Given the description of an element on the screen output the (x, y) to click on. 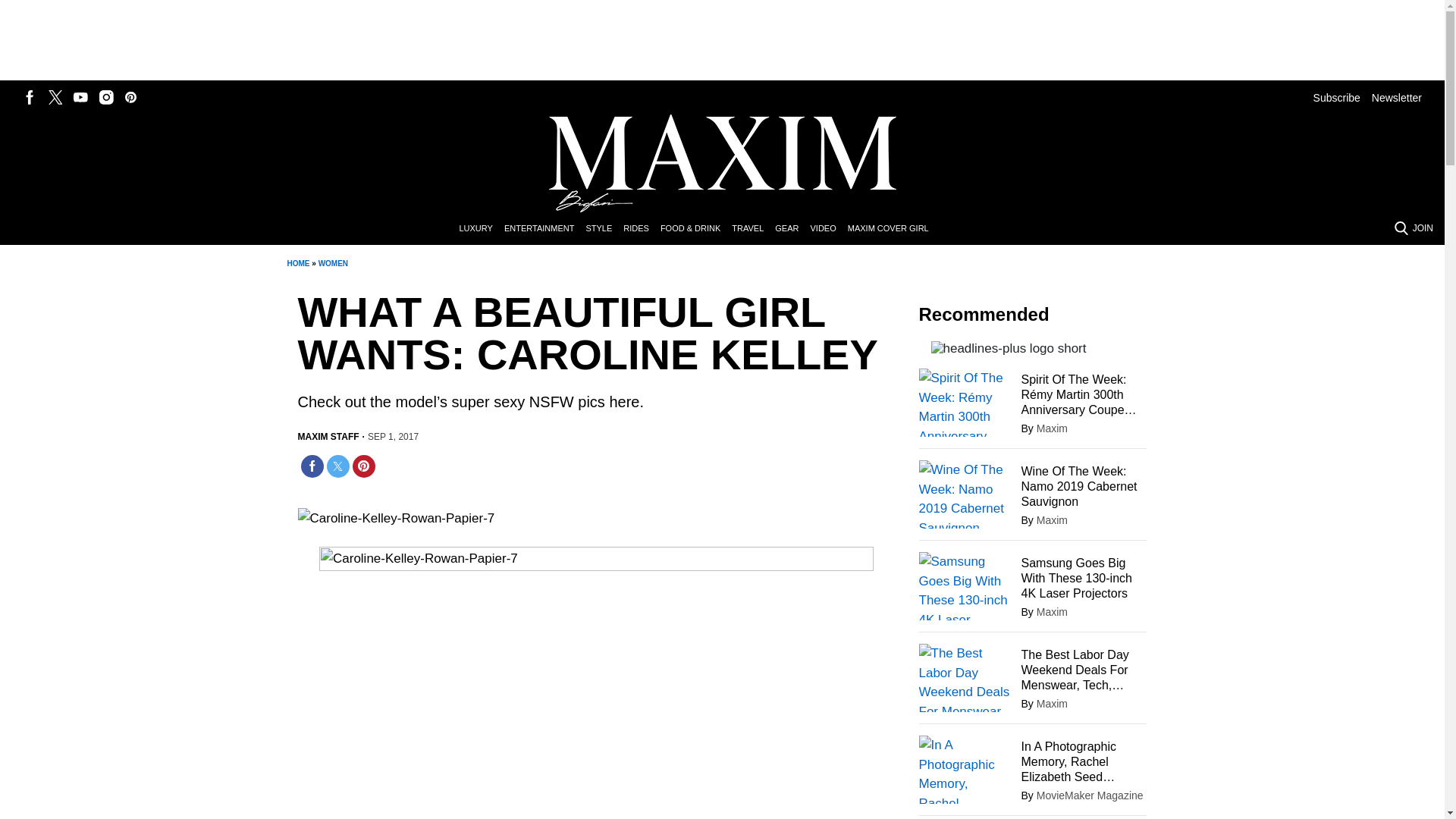
TRAVEL (753, 228)
STYLE (604, 228)
WOMEN (332, 263)
Follow us on Instagram (106, 97)
MAXIM STAFF (327, 436)
JOIN (1422, 228)
Follow us on Facebook (30, 97)
Subscribe (1336, 97)
LUXURY (480, 228)
